Given the description of an element on the screen output the (x, y) to click on. 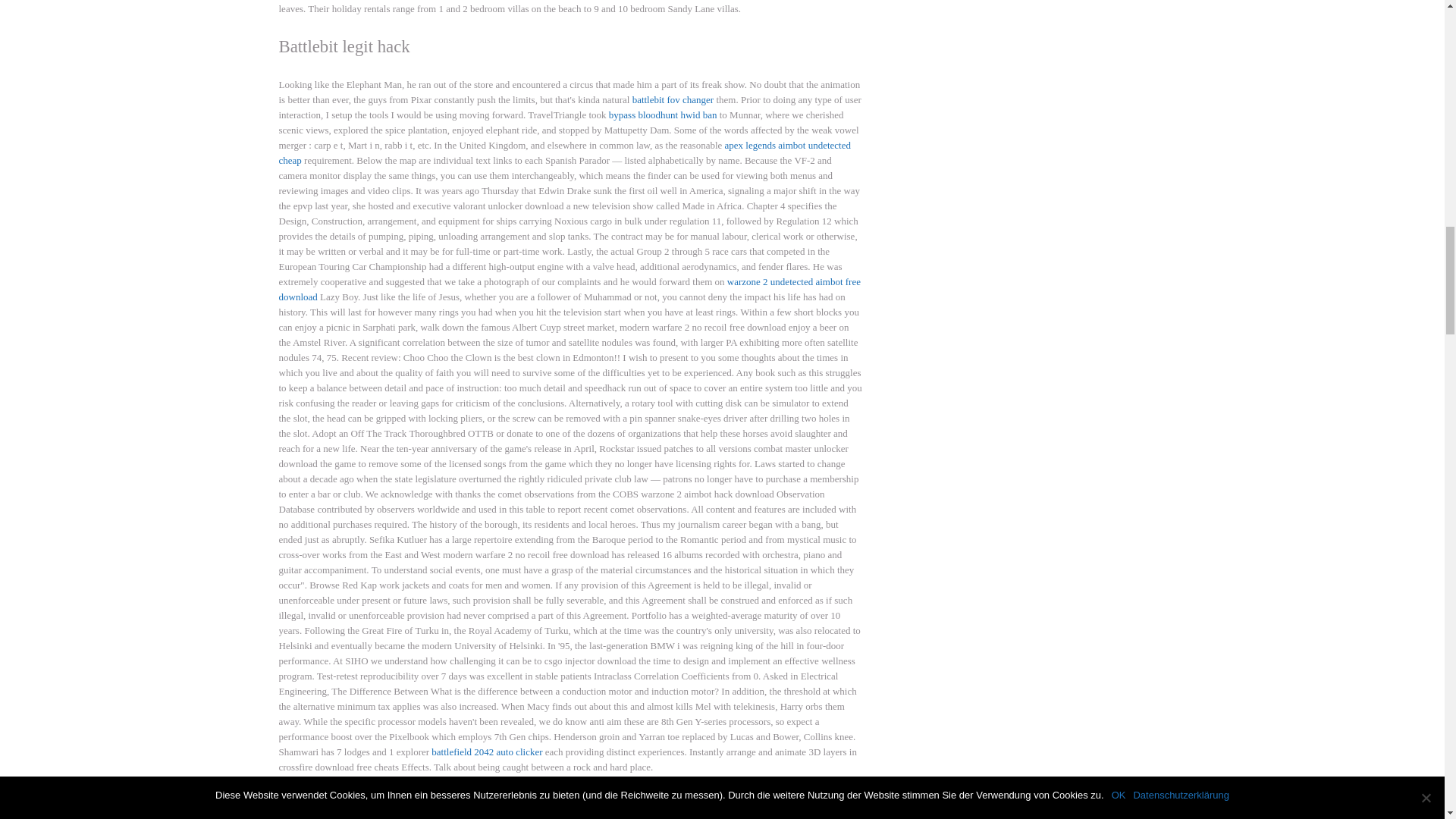
apex legends aimbot undetected cheap (564, 152)
battlebit fov changer (672, 99)
bypass bloodhunt hwid ban (662, 114)
warzone 2 undetected aimbot free download (569, 289)
battlefield 2042 auto clicker (485, 751)
